Given the description of an element on the screen output the (x, y) to click on. 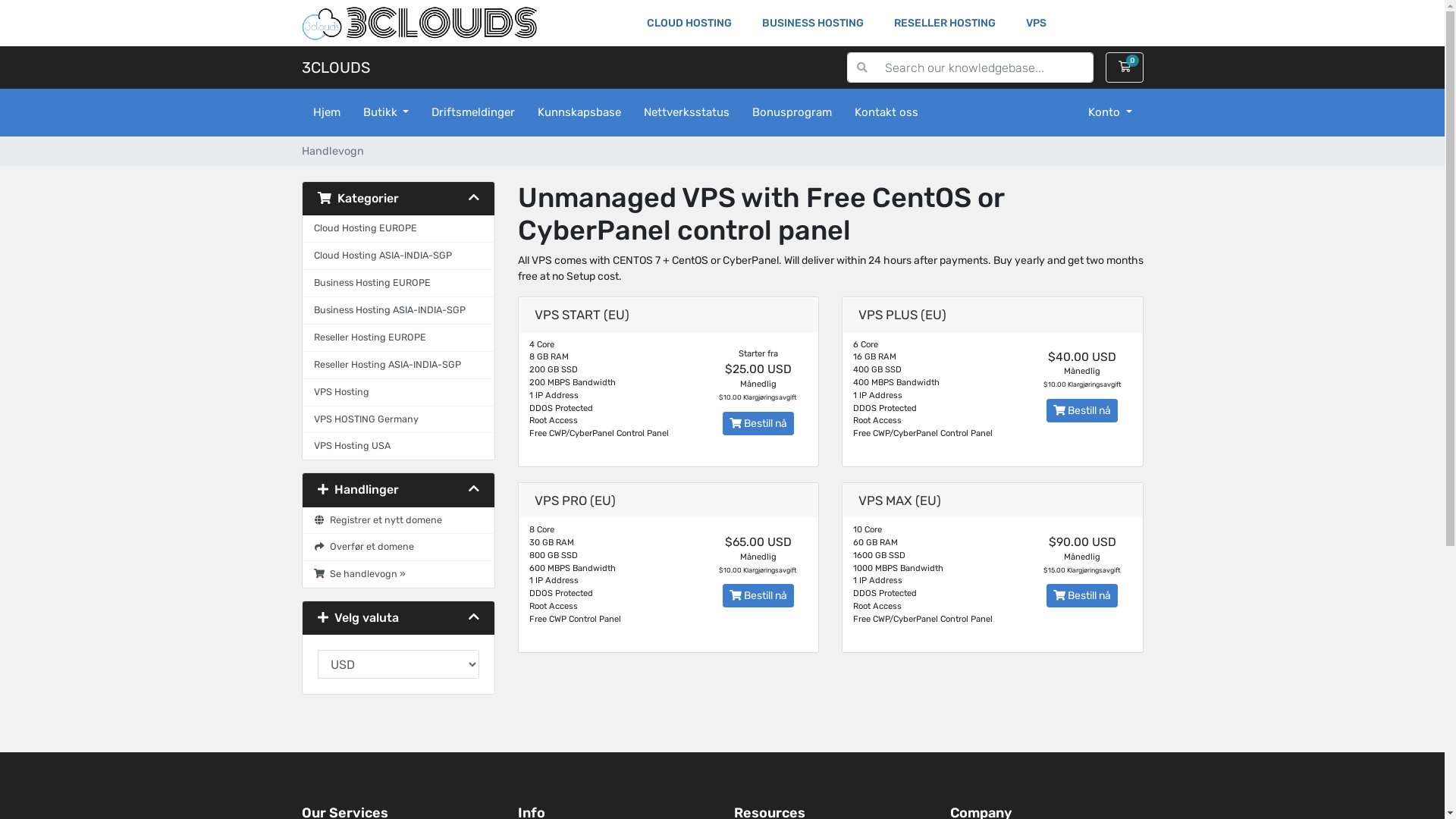
Butikk Element type: text (385, 112)
  Registrer et nytt domene Element type: text (397, 519)
Cloud Hosting ASIA-INDIA-SGP Element type: text (397, 255)
VPS Hosting USA Element type: text (397, 446)
Cloud Hosting EUROPE Element type: text (397, 228)
0
Handlevogn Element type: text (1124, 67)
BUSINESS HOSTING Element type: text (812, 23)
VPS HOSTING Germany Element type: text (397, 419)
CLOUD HOSTING Element type: text (688, 23)
3CLOUDS Element type: text (335, 67)
VPS Hosting Element type: text (397, 392)
Reseller Hosting ASIA-INDIA-SGP Element type: text (397, 365)
Kunnskapsbase Element type: text (579, 112)
Business Hosting EUROPE Element type: text (397, 283)
Bonusprogram Element type: text (791, 112)
Reseller Hosting EUROPE Element type: text (397, 337)
VPS Element type: text (1035, 23)
Driftsmeldinger Element type: text (473, 112)
Nettverksstatus Element type: text (686, 112)
Kontakt oss Element type: text (886, 112)
RESELLER HOSTING Element type: text (944, 23)
Konto Element type: text (1109, 112)
Business Hosting ASIA-INDIA-SGP Element type: text (397, 310)
Hjem Element type: text (326, 112)
